Given the description of an element on the screen output the (x, y) to click on. 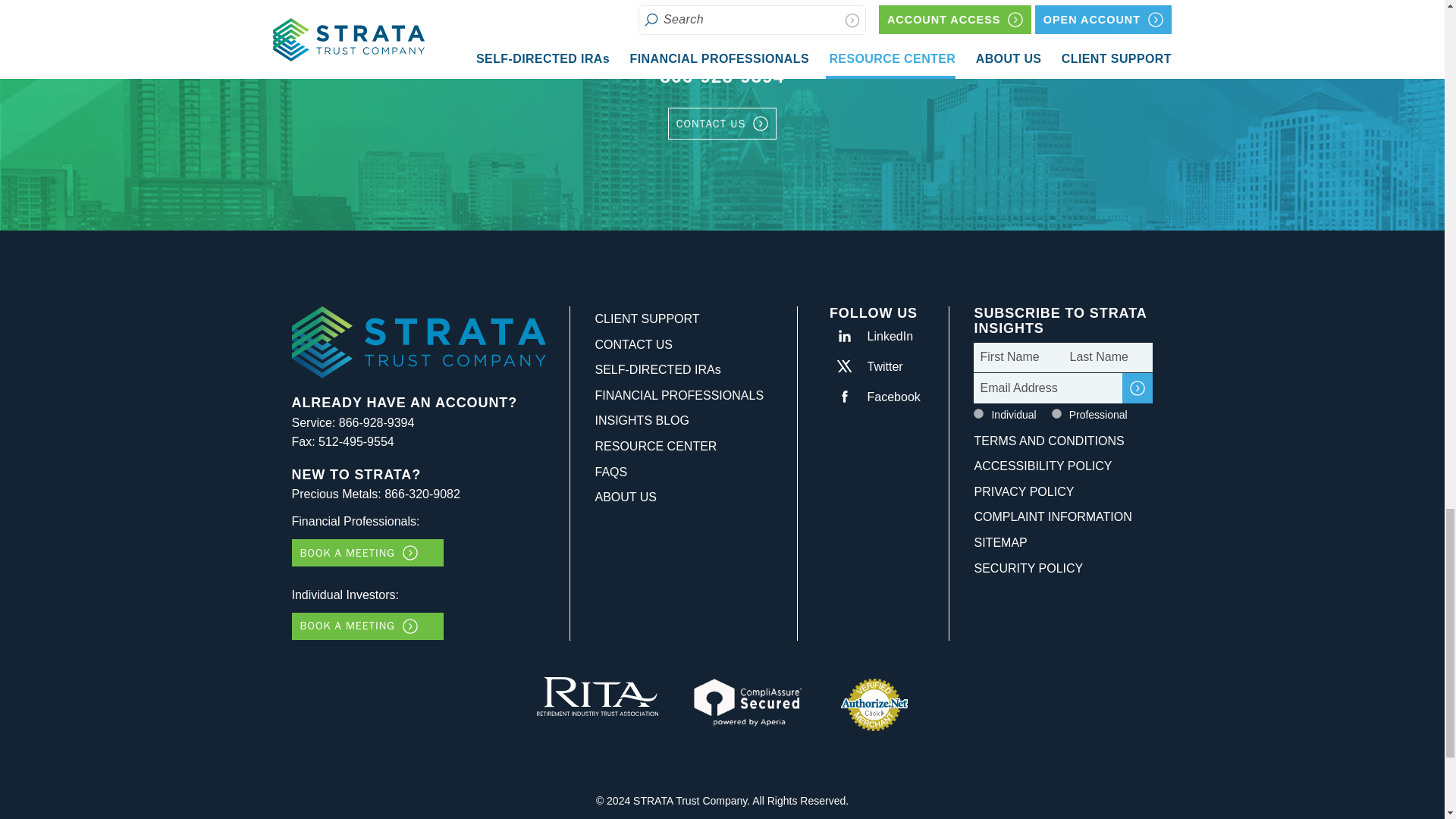
Individual (979, 413)
Submit (1137, 388)
Professional (1056, 413)
